Given the description of an element on the screen output the (x, y) to click on. 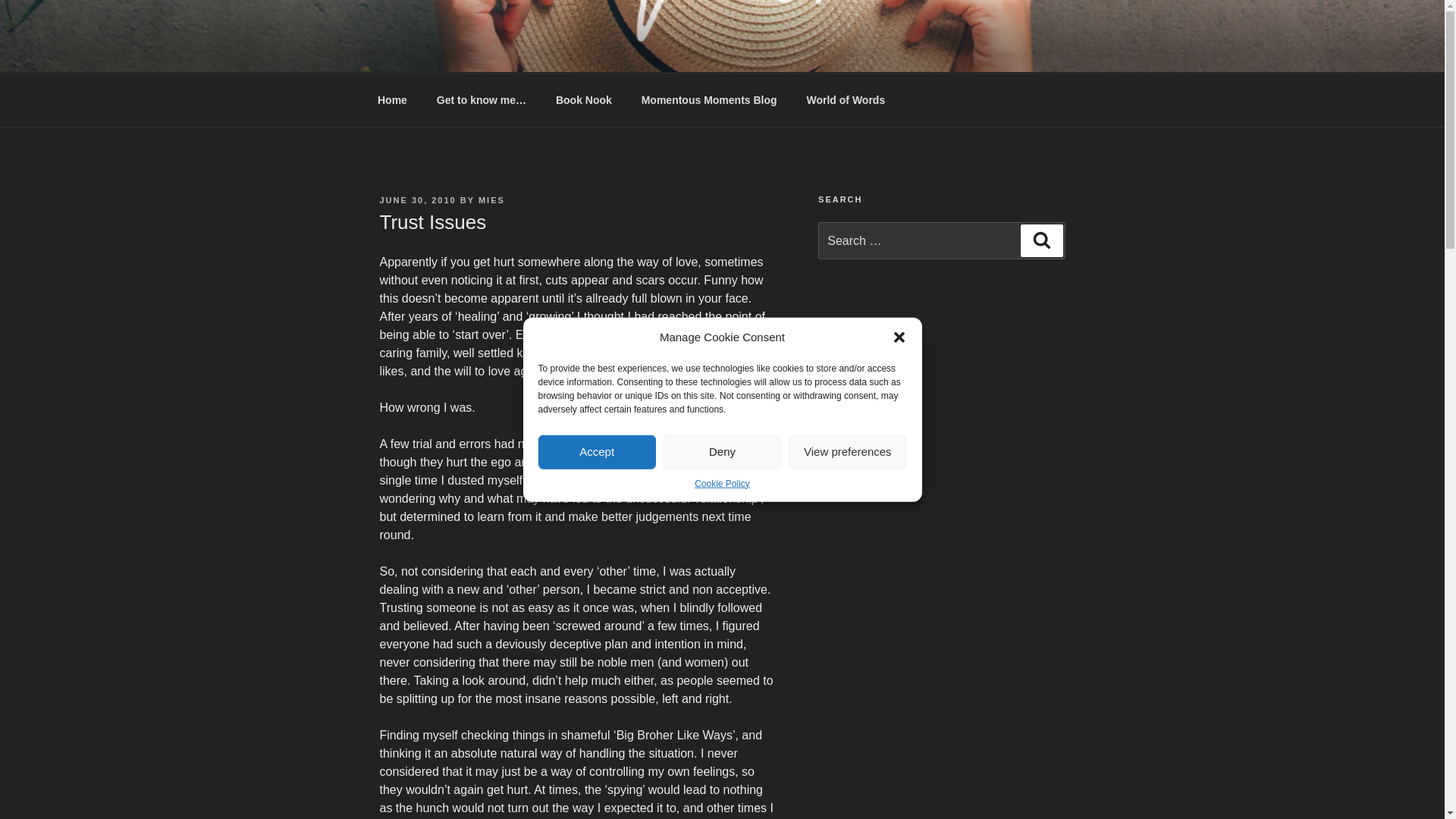
Accept (597, 451)
MOMENTOUS MOMENTS (560, 52)
View preferences (847, 451)
Book Nook (582, 99)
World of Words (845, 99)
Search (1041, 240)
Home (392, 99)
MIES (492, 199)
JUNE 30, 2010 (416, 199)
Deny (721, 451)
